Given the description of an element on the screen output the (x, y) to click on. 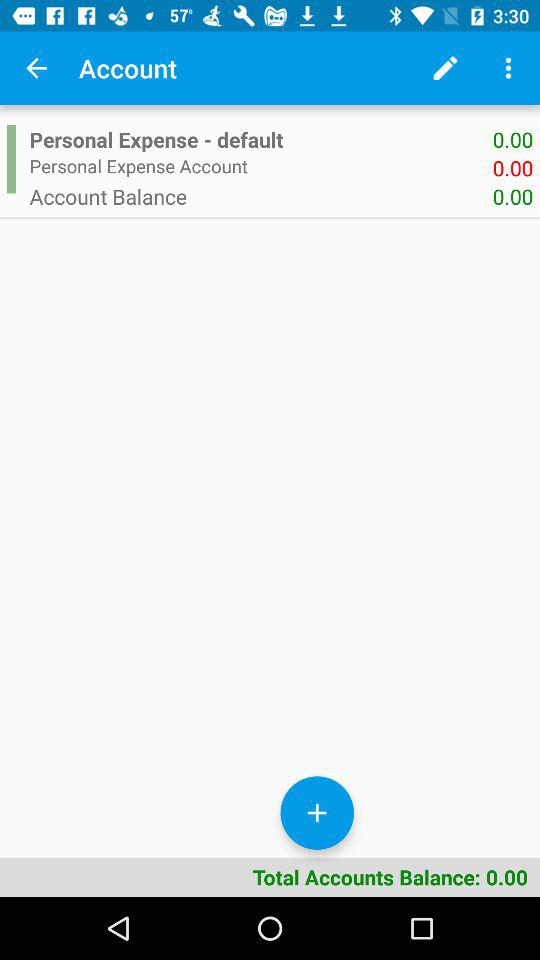
click item below the account balance  icon (316, 812)
